Given the description of an element on the screen output the (x, y) to click on. 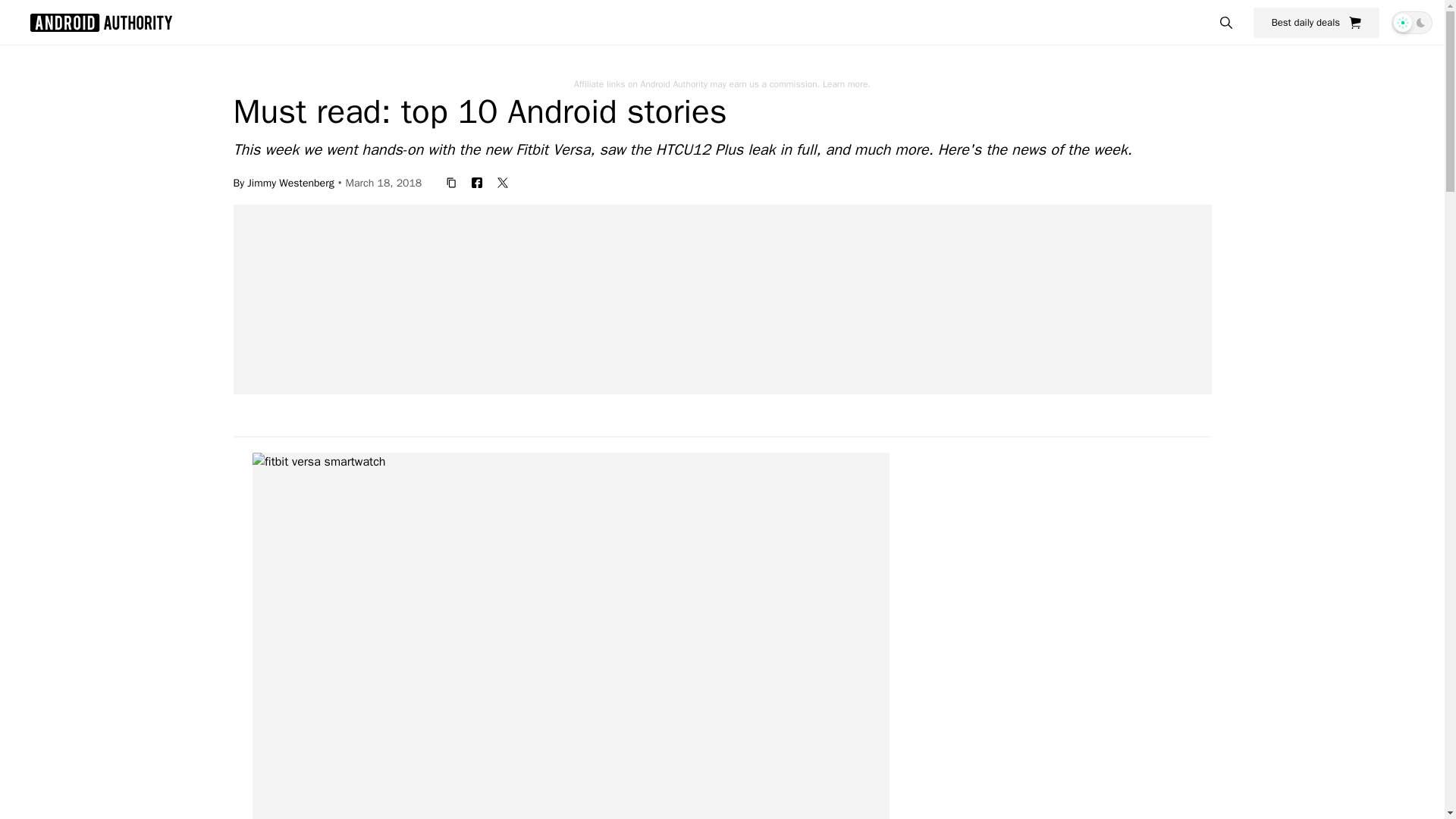
Learn more. (846, 83)
twitter (502, 182)
Best daily deals (1315, 22)
Jimmy Westenberg (290, 182)
facebook (476, 182)
